Given the description of an element on the screen output the (x, y) to click on. 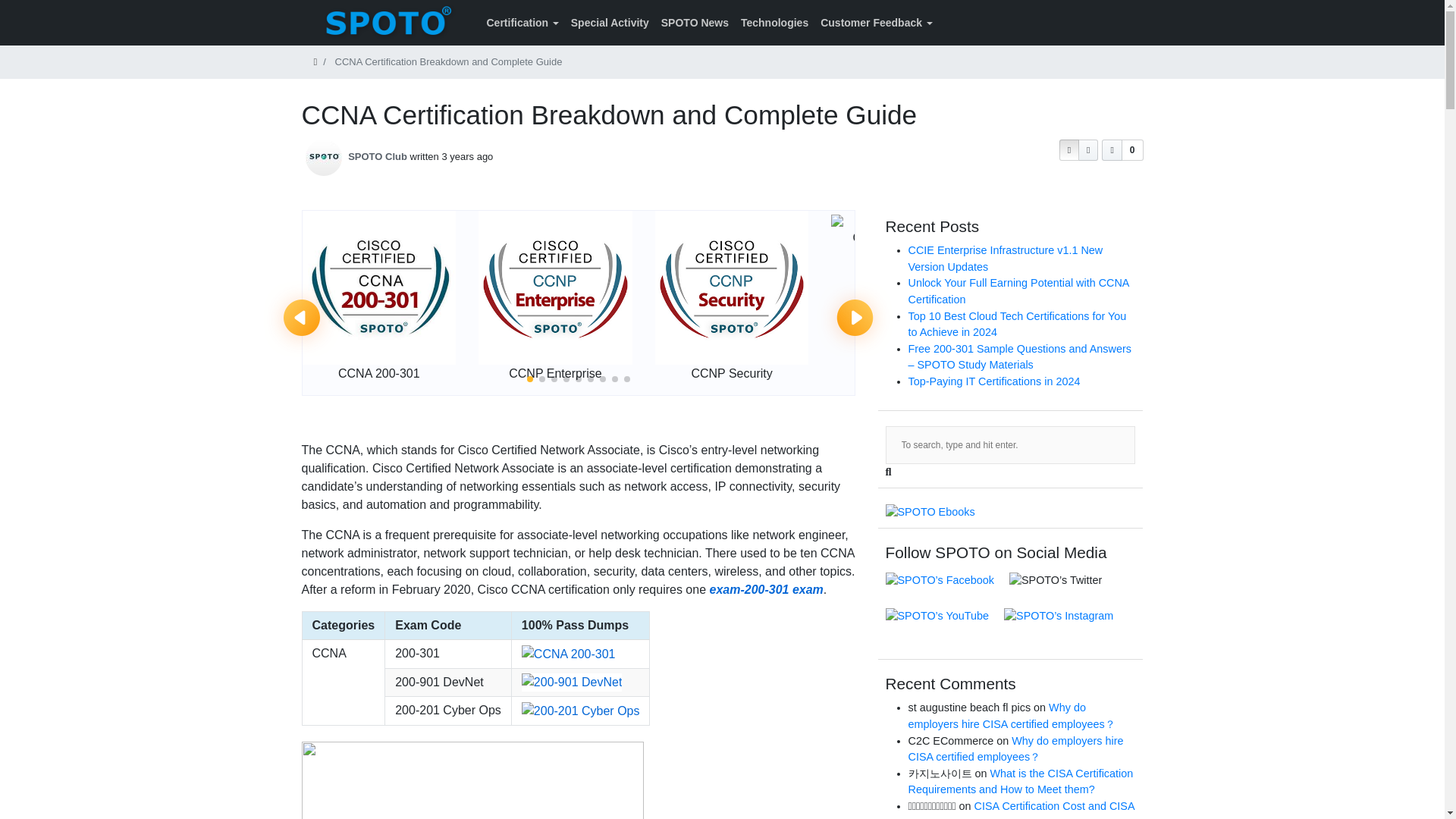
SPOTO Club (377, 156)
SPOTO News (695, 22)
Certification (522, 22)
exam-200-301 exam (765, 589)
Special Activity (609, 22)
0 (1122, 149)
Technologies (774, 22)
Customer Feedback (875, 22)
